Given the description of an element on the screen output the (x, y) to click on. 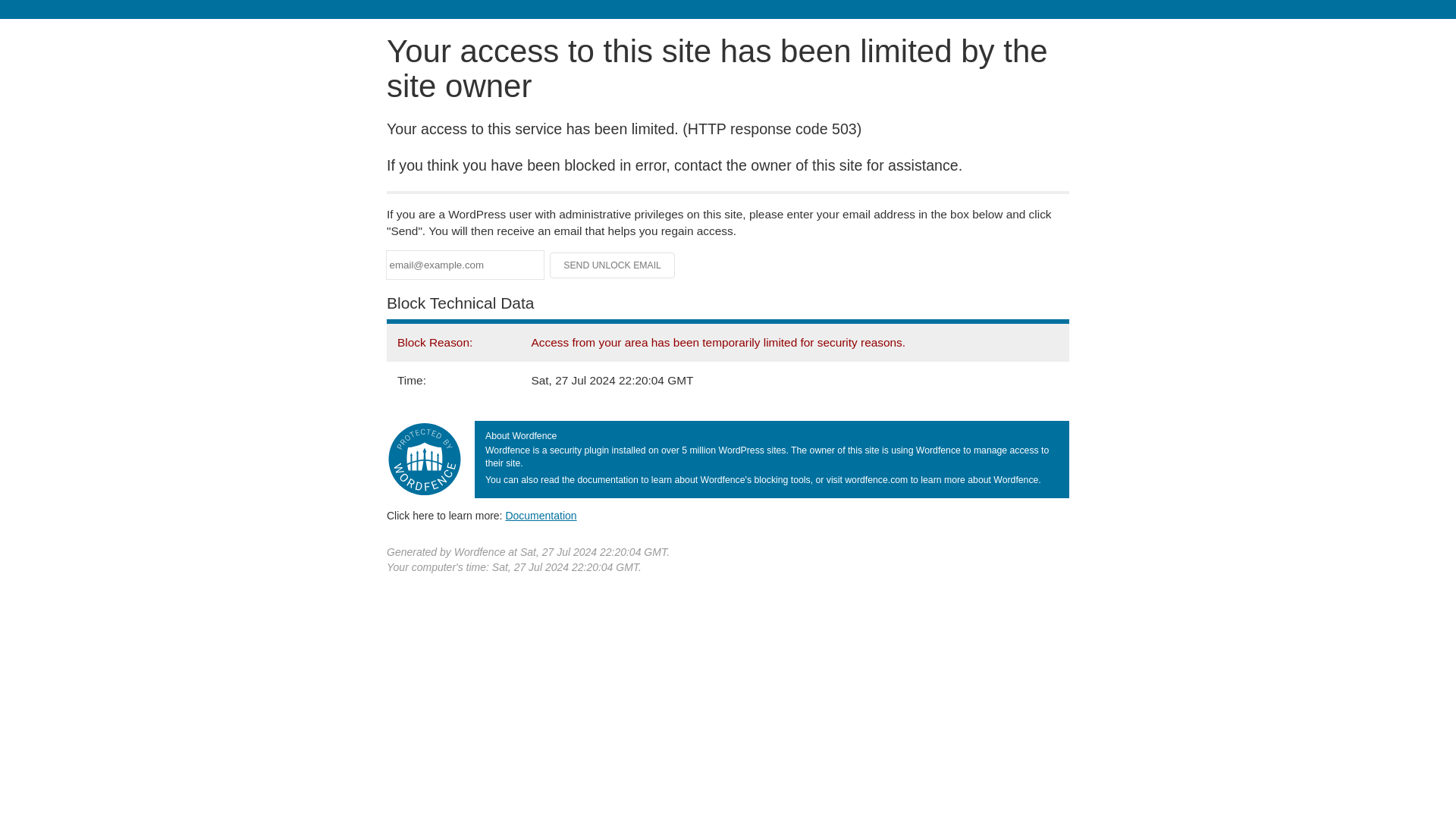
Documentation (540, 515)
Send Unlock Email (612, 265)
Send Unlock Email (612, 265)
